Given the description of an element on the screen output the (x, y) to click on. 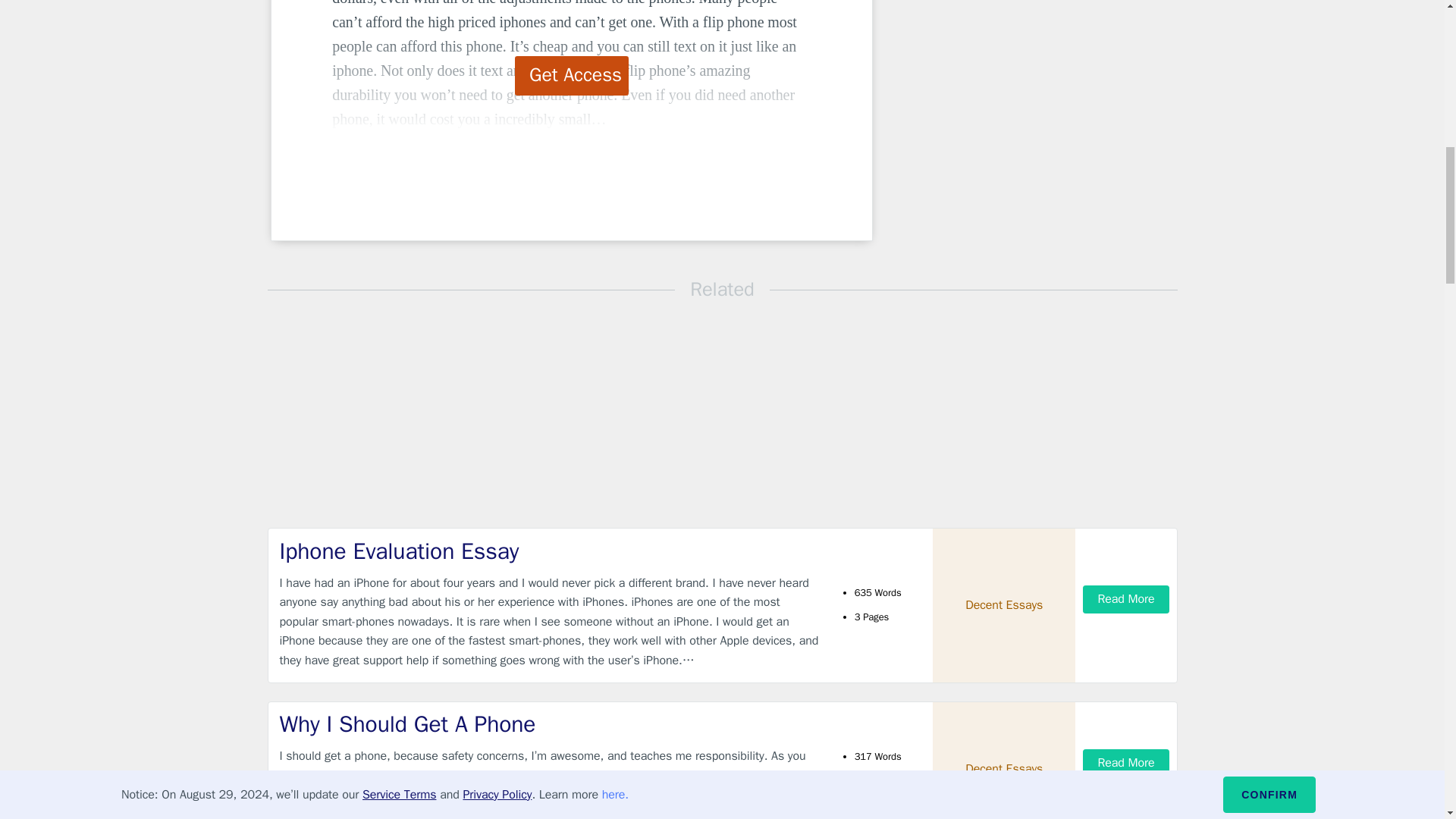
Why I Should Get A Phone (548, 724)
Read More (1126, 599)
Get Access (571, 75)
Read More (1126, 763)
Iphone Evaluation Essay (548, 551)
